Given the description of an element on the screen output the (x, y) to click on. 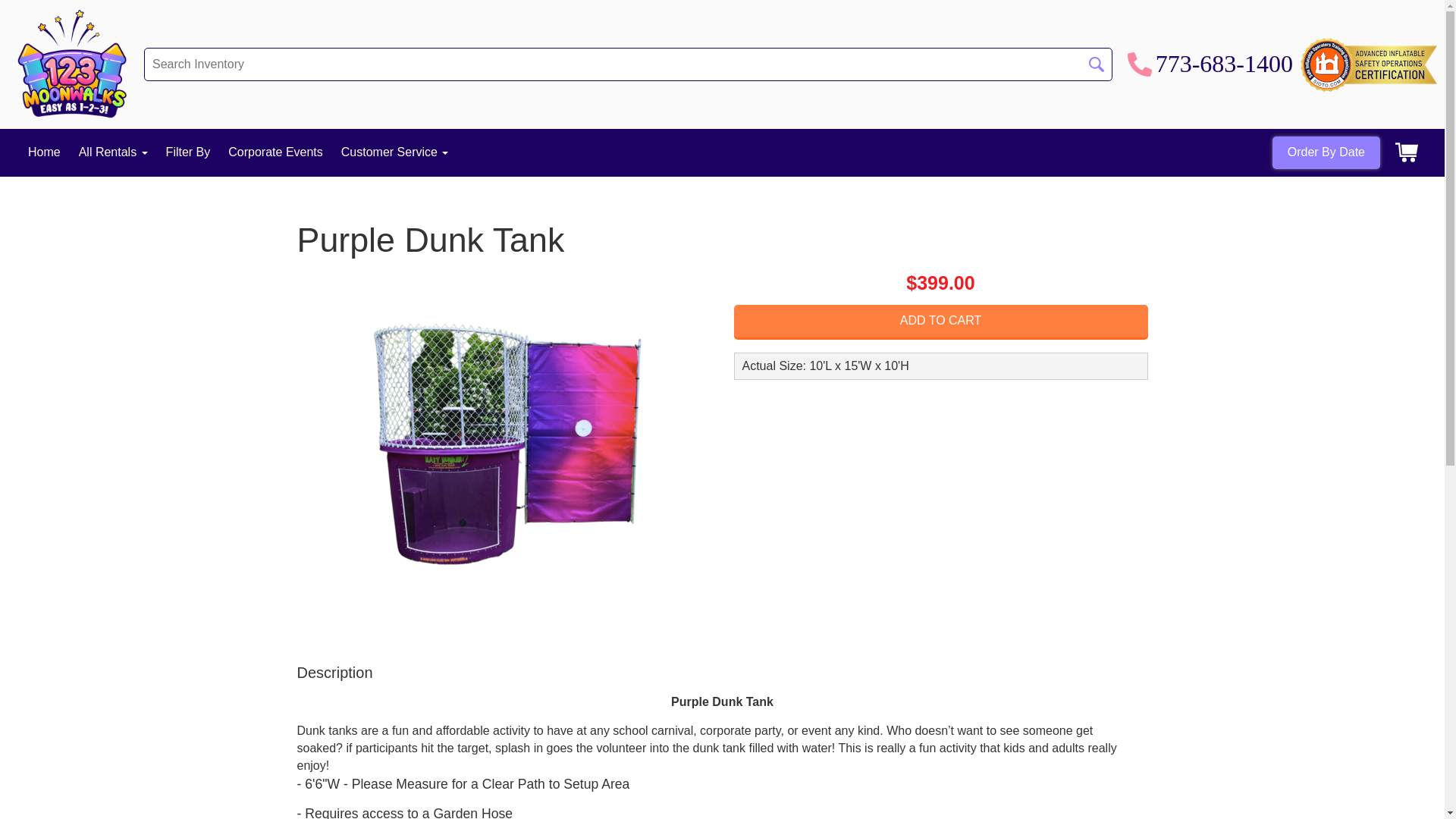
ADD TO CART Element type: text (941, 320)
All Rentals Element type: text (112, 151)
Customer Service Element type: text (394, 151)
Filter By Element type: text (188, 151)
773-683-1400 Element type: text (1209, 64)
Corporate Events Element type: text (275, 151)
Purple Dunk Tank Element type: hover (503, 451)
Order By Date Element type: text (1326, 152)
Home Element type: text (44, 151)
123 Moonwalks Element type: hover (71, 64)
